Given the description of an element on the screen output the (x, y) to click on. 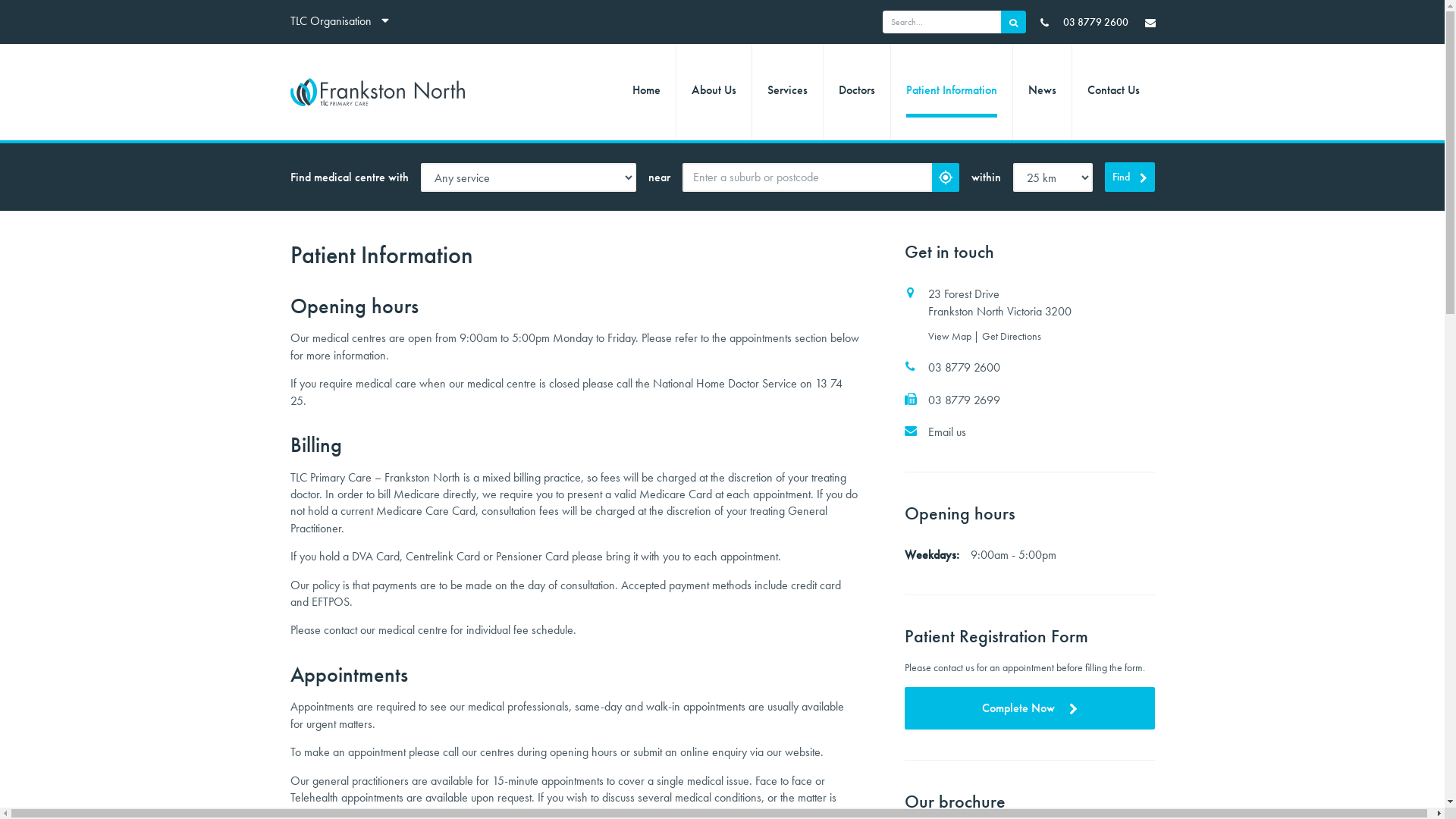
TLC Organisationcaret-down Element type: text (343, 21)
Home Element type: text (646, 91)
About Us Element type: text (713, 91)
Get Directions Element type: text (1011, 335)
TLC Primary Care - Frankston North | Email Us Element type: hover (1150, 21)
View Map Element type: text (950, 335)
Email us Element type: text (1029, 431)
TLC Primary Care - Frankston North | Logo Element type: hover (384, 91)
Complete Now Element type: text (1029, 708)
03 8779 2600 Element type: text (1029, 367)
 03 8779 2600 Element type: text (1084, 21)
Detect my location Element type: hover (945, 177)
Find Element type: text (1129, 176)
News Element type: text (1042, 91)
Doctors Element type: text (856, 91)
Contact Us Element type: text (1113, 91)
Services Element type: text (787, 91)
Patient Information Element type: text (950, 91)
